Given the description of an element on the screen output the (x, y) to click on. 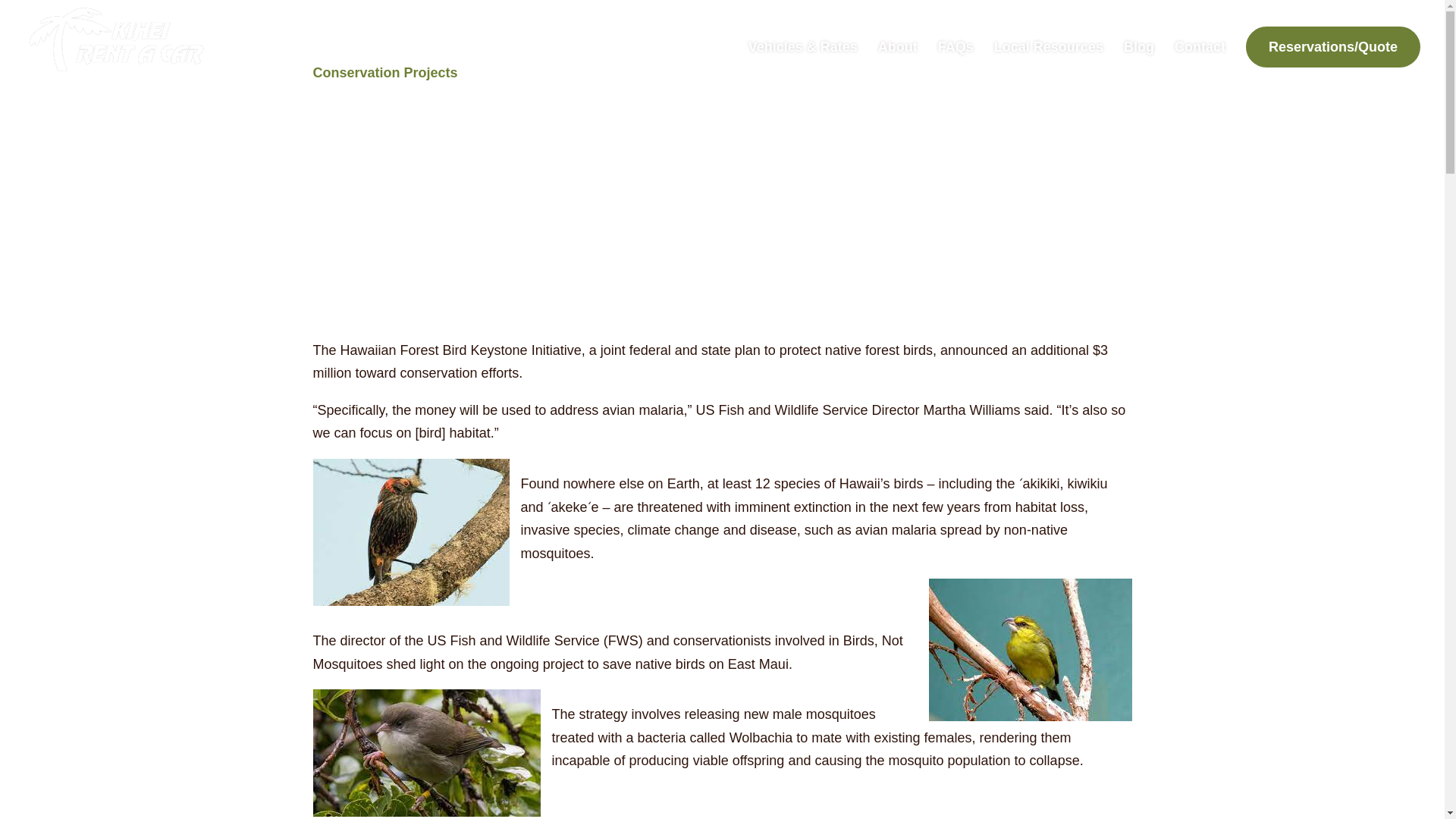
Local Resources (1048, 59)
FAQs (955, 59)
About (897, 59)
Contact (1199, 59)
Conservation Projects (385, 72)
